Given the description of an element on the screen output the (x, y) to click on. 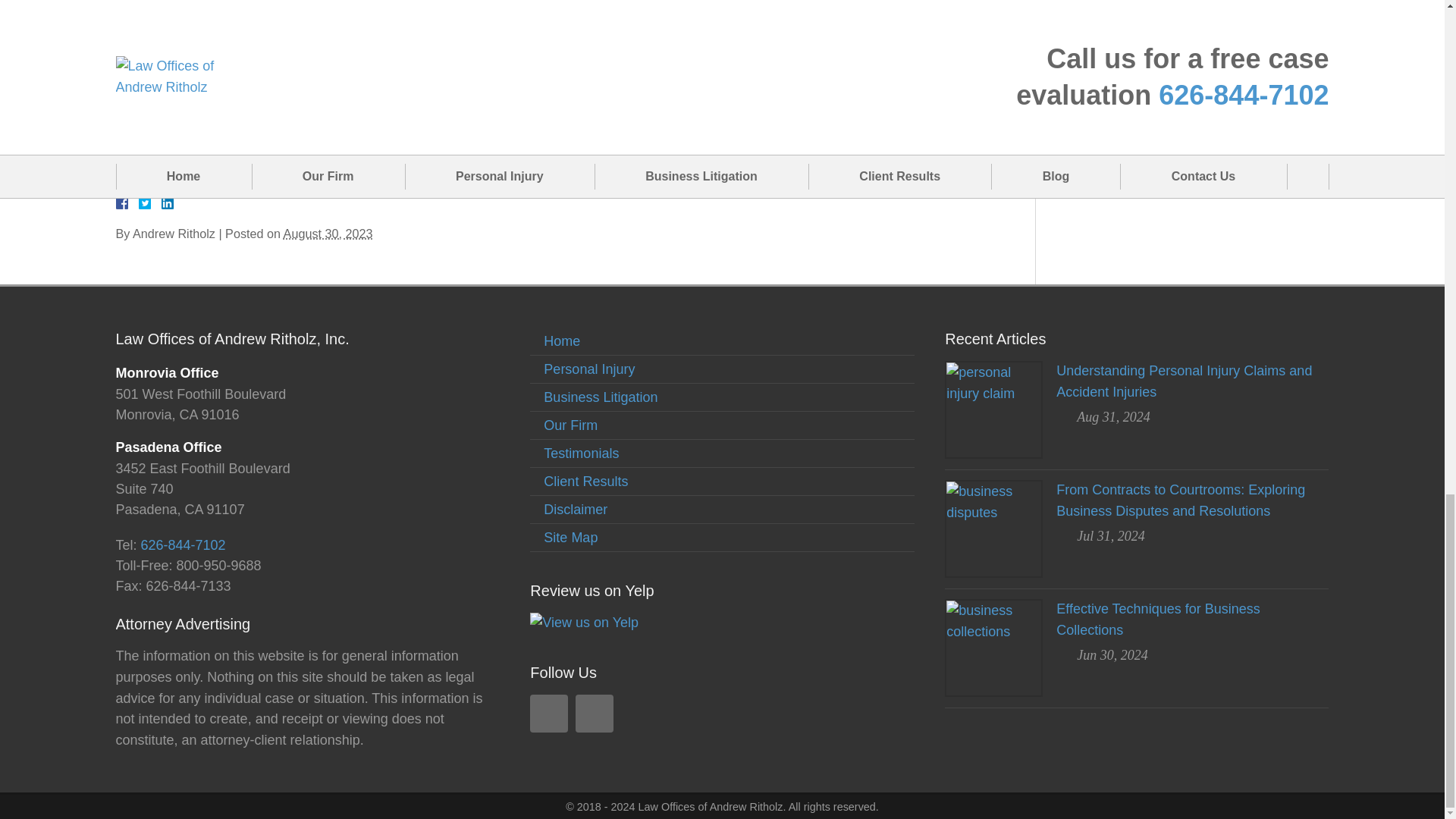
Facebook (139, 203)
Twitter (149, 203)
LinkedIn (160, 203)
business disputes (993, 528)
business collections (993, 647)
2023-08-30T11:15:26-0700 (327, 233)
personal injury claim (993, 409)
